Given the description of an element on the screen output the (x, y) to click on. 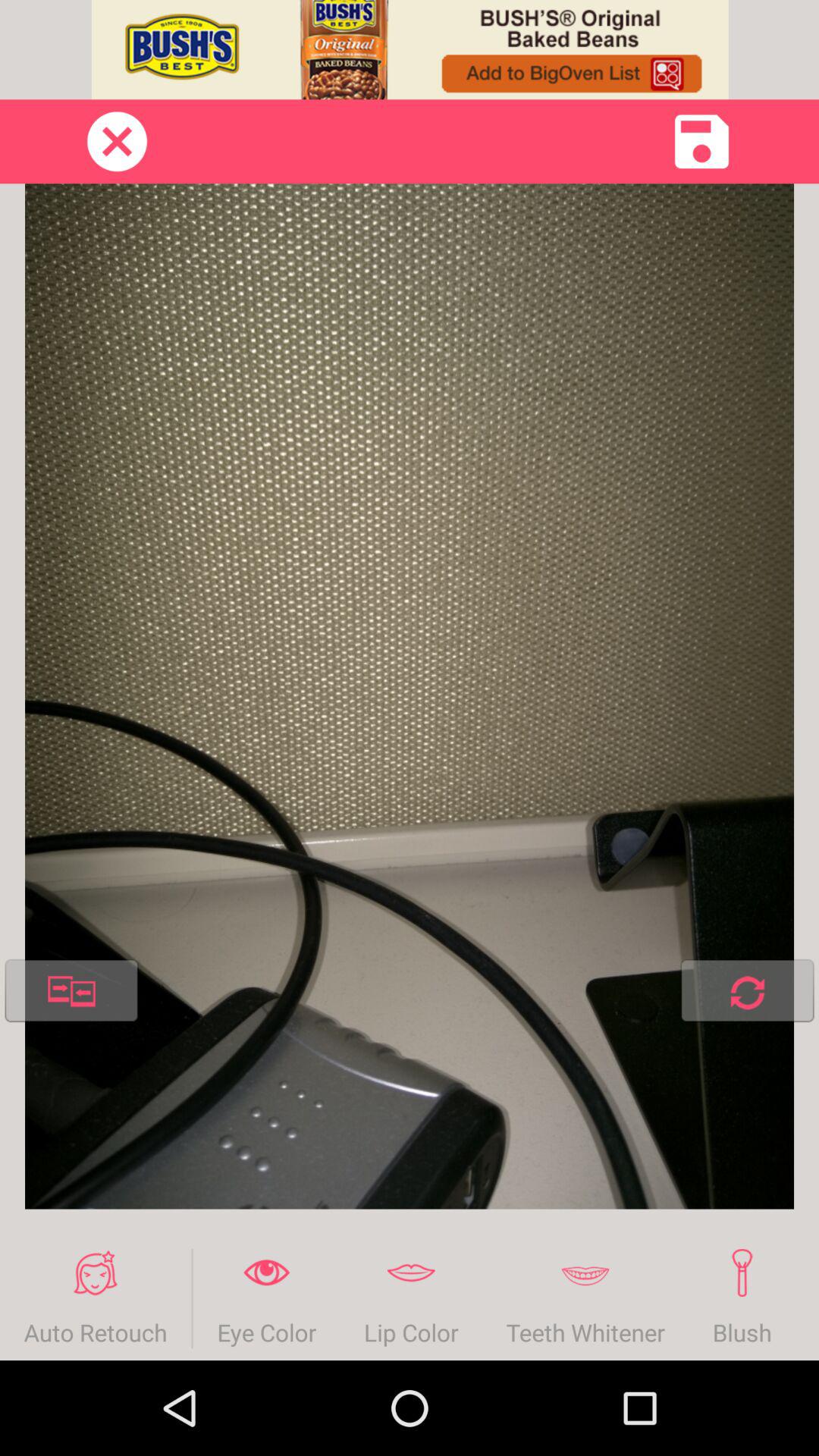
choose item next to teeth whitener icon (741, 1298)
